Given the description of an element on the screen output the (x, y) to click on. 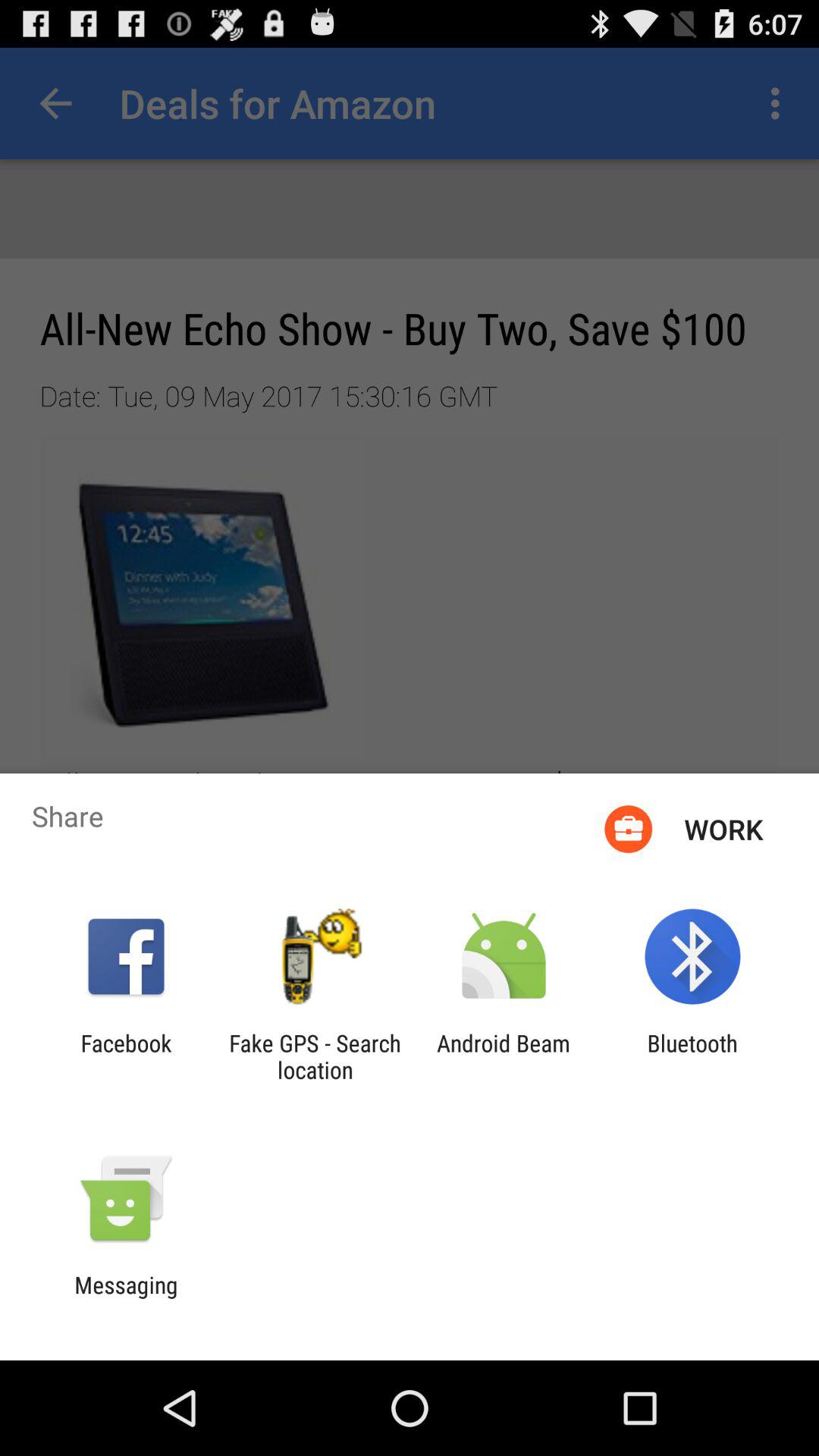
open the android beam app (503, 1056)
